Given the description of an element on the screen output the (x, y) to click on. 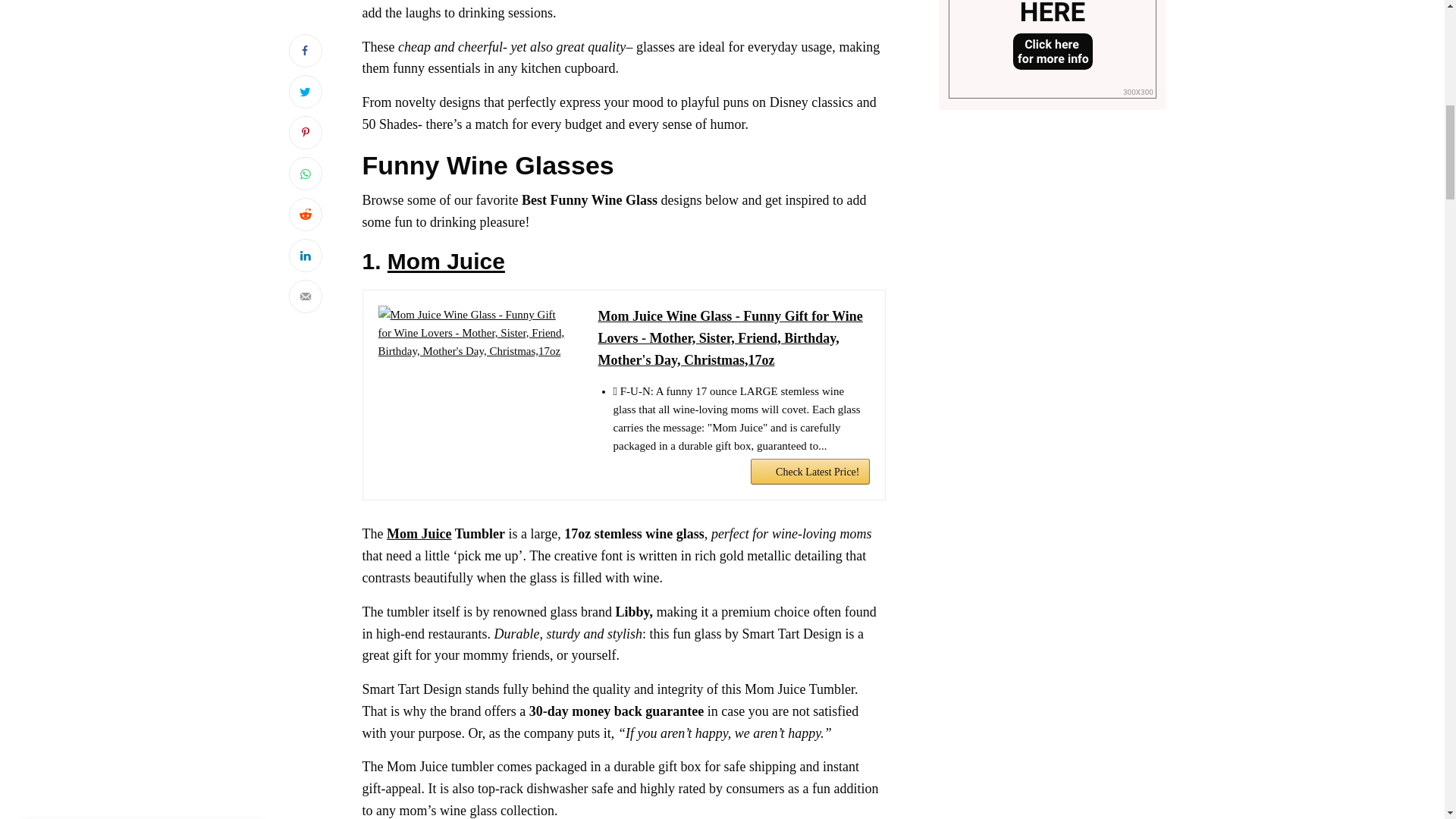
Check Latest Price! (810, 471)
